Given the description of an element on the screen output the (x, y) to click on. 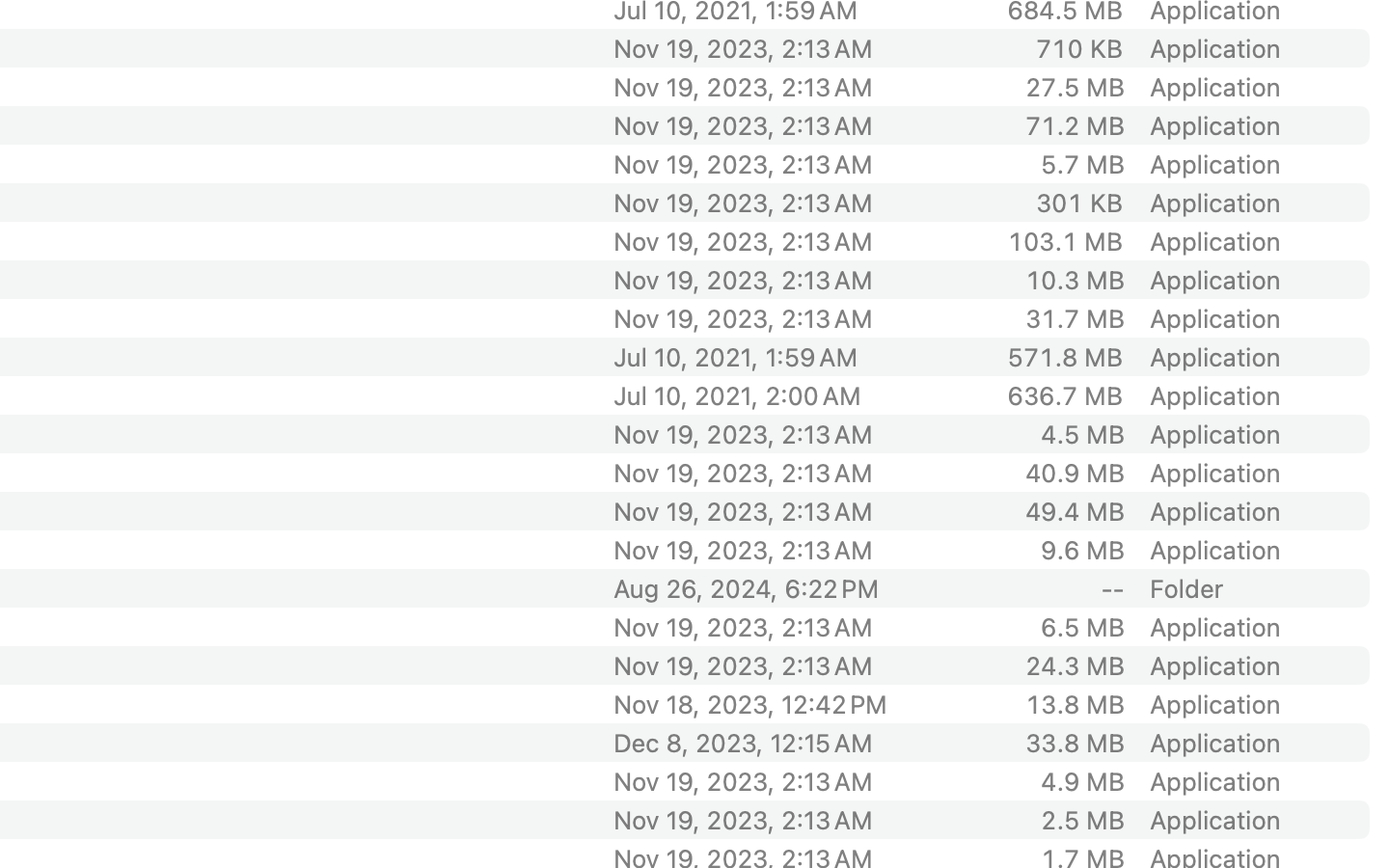
27.5 MB Element type: AXStaticText (1074, 86)
6.5 MB Element type: AXStaticText (1081, 626)
Dec 8, 2023, 12:15 AM Element type: AXStaticText (774, 742)
71.2 MB Element type: AXStaticText (1074, 124)
13.8 MB Element type: AXStaticText (1074, 703)
